Given the description of an element on the screen output the (x, y) to click on. 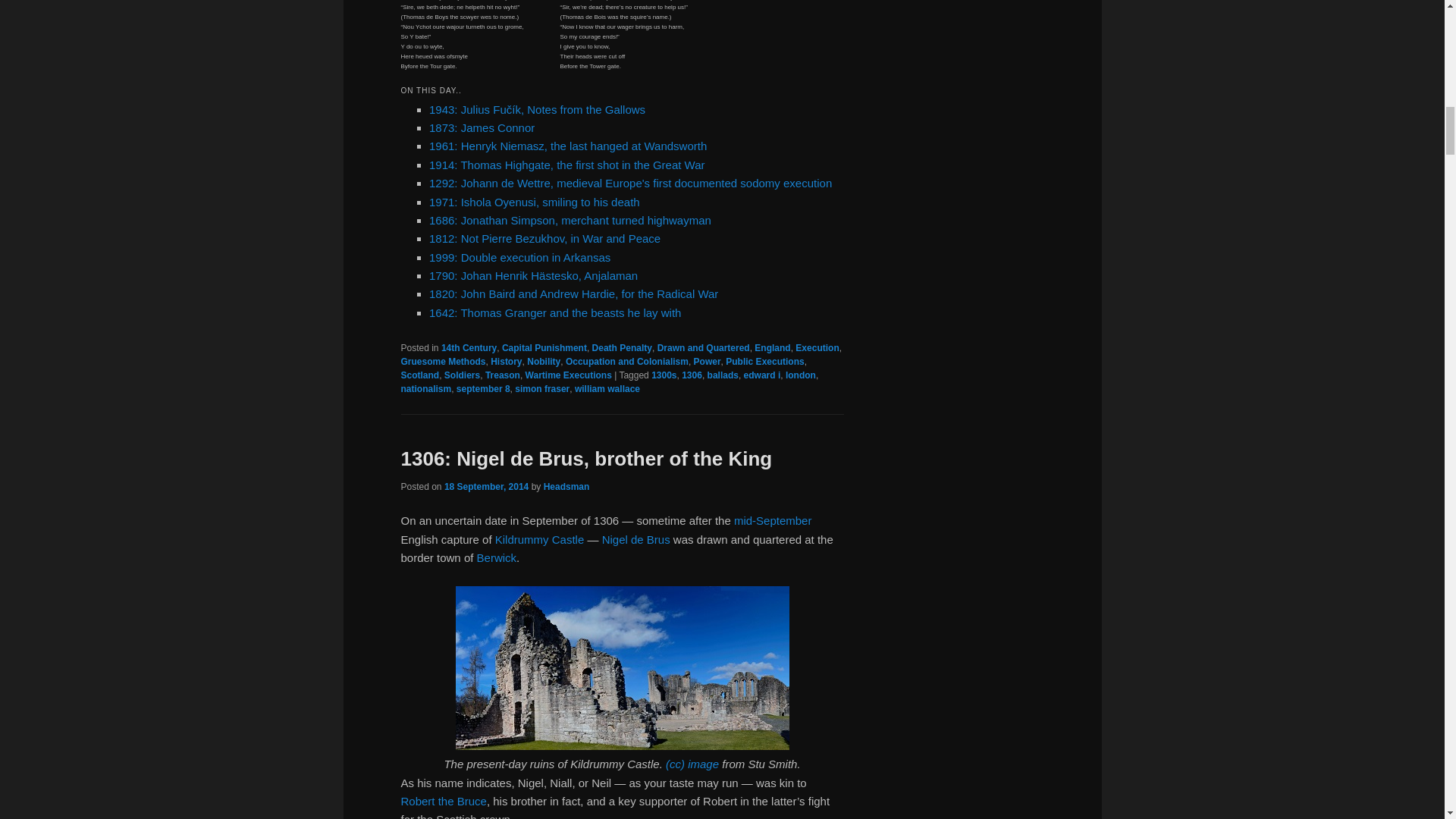
View all posts by Headsman (566, 486)
1971: Ishola Oyenusi, smiling to his death (534, 201)
1873: James Connor (481, 127)
1961: Henryk Niemasz, the last hanged at Wandsworth (567, 145)
8:53 am (486, 486)
1820: John Baird and Andrew Hardie, for the Radical War (573, 293)
1686: Jonathan Simpson, merchant turned highwayman (570, 219)
1999: Double execution in Arkansas (519, 256)
1812: Not Pierre Bezukhov, in War and Peace (545, 237)
